Given the description of an element on the screen output the (x, y) to click on. 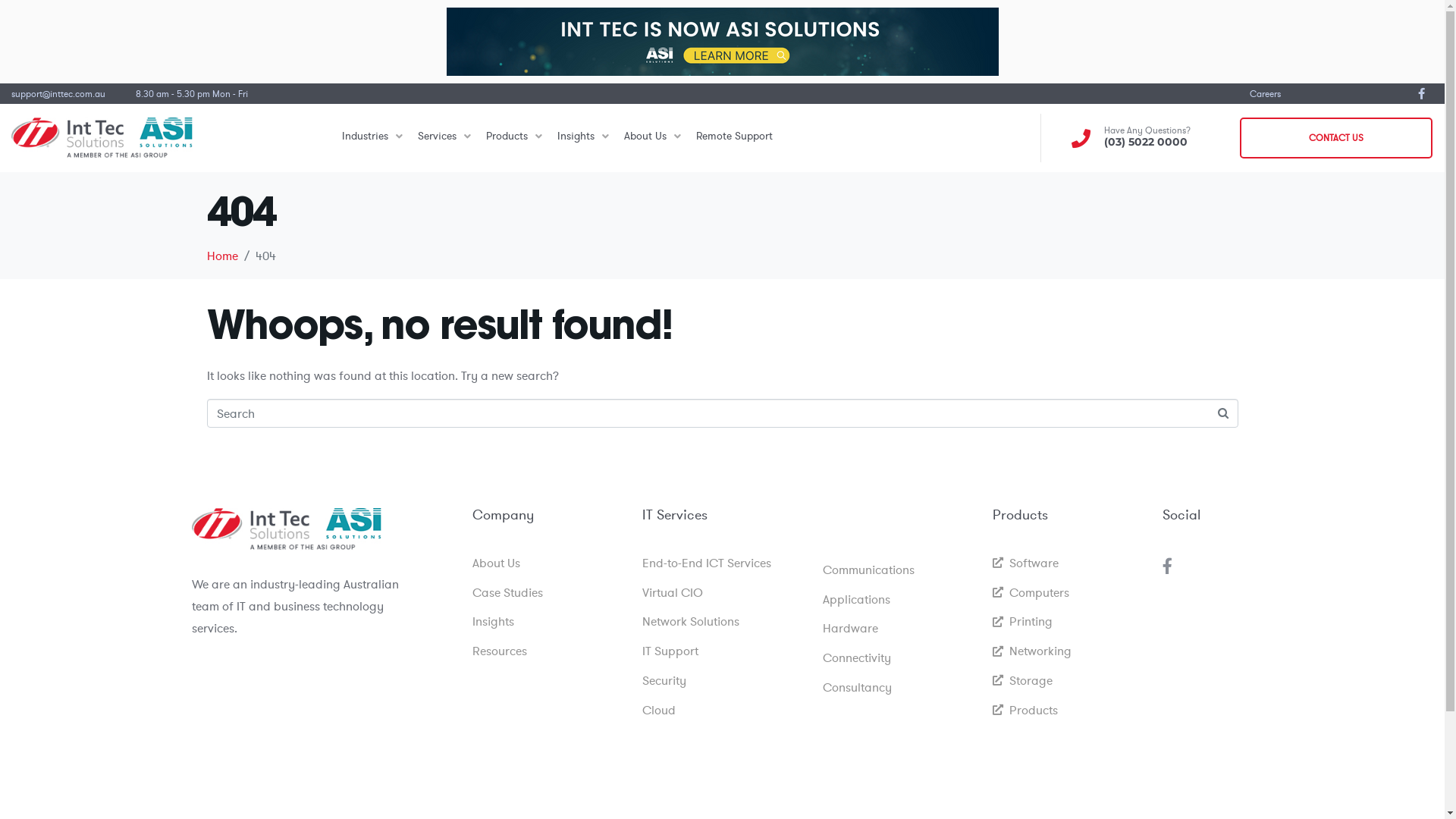
End-to-End ICT Services Element type: text (723, 563)
Printing Element type: text (1068, 621)
Products Element type: text (1068, 710)
(03) 5022 0000 Element type: text (1145, 141)
About Us Element type: text (652, 137)
Networking Element type: text (1068, 651)
Remote Support Element type: text (734, 137)
Resources Element type: text (548, 651)
Network Solutions Element type: text (723, 621)
CONTACT US Element type: text (1335, 137)
Connectivity Element type: text (899, 657)
Software Element type: text (1068, 563)
Consultancy Element type: text (899, 687)
Security Element type: text (723, 680)
Insights Element type: text (548, 621)
About Us Element type: text (548, 563)
Home Element type: text (221, 255)
Hardware Element type: text (899, 628)
Insights Element type: text (582, 137)
Careers Element type: text (1264, 92)
Virtual CIO Element type: text (723, 592)
Applications Element type: text (899, 599)
Cloud Element type: text (723, 710)
IT Support Element type: text (723, 651)
Communications Element type: text (899, 569)
Services Element type: text (443, 137)
Products Element type: text (514, 137)
Computers Element type: text (1068, 592)
Storage Element type: text (1068, 680)
Case Studies Element type: text (548, 592)
Industries Element type: text (372, 137)
